Given the description of an element on the screen output the (x, y) to click on. 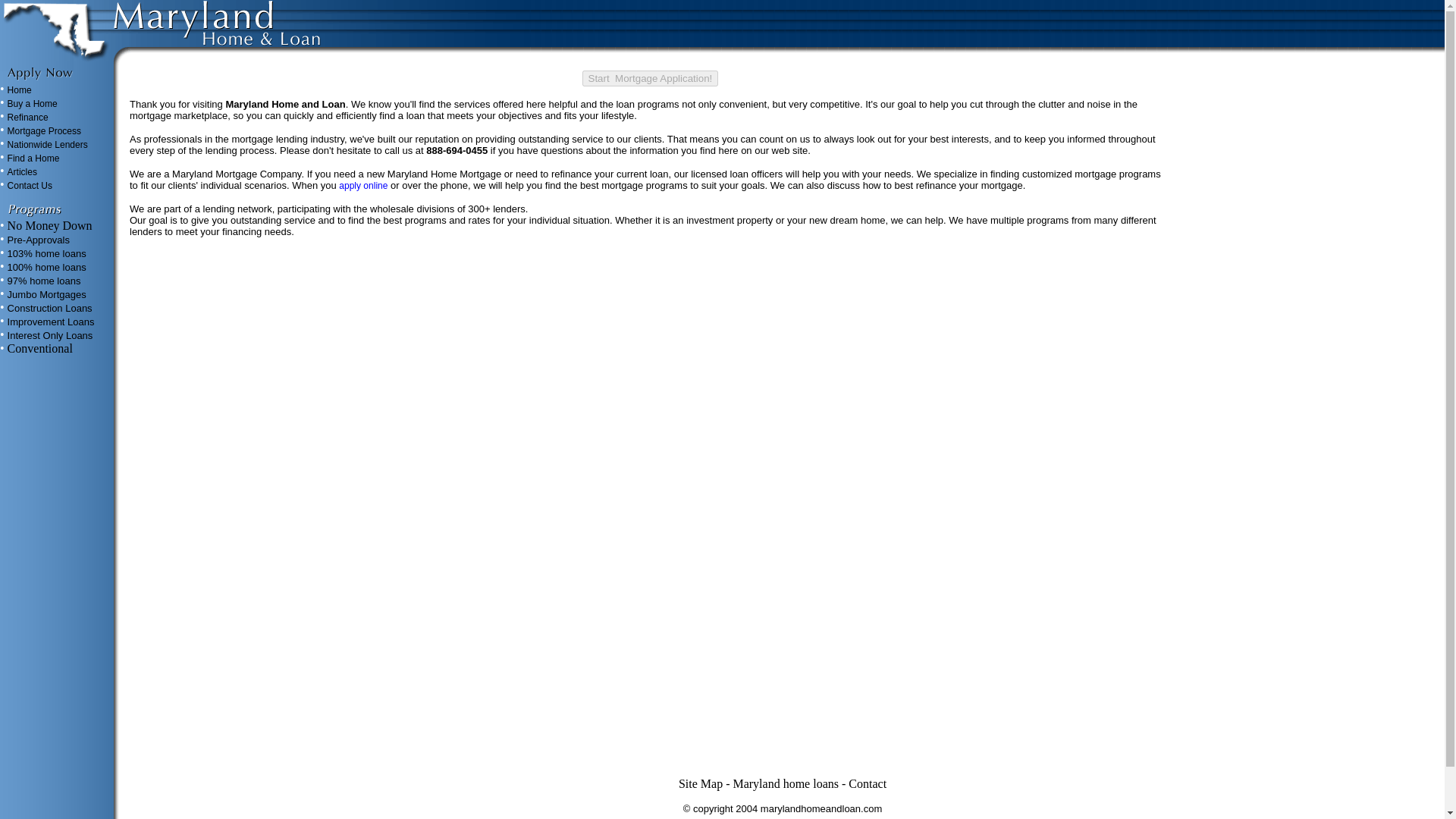
Buy a Home (32, 103)
Site Map (700, 783)
Improvement Loans (50, 321)
Nationwide Lenders (47, 144)
Interest Only Loans (50, 335)
Start  Mortgage Application! (650, 78)
Find a Home (33, 158)
Contact (867, 783)
Mortgage Process (44, 131)
Articles (22, 172)
